Given the description of an element on the screen output the (x, y) to click on. 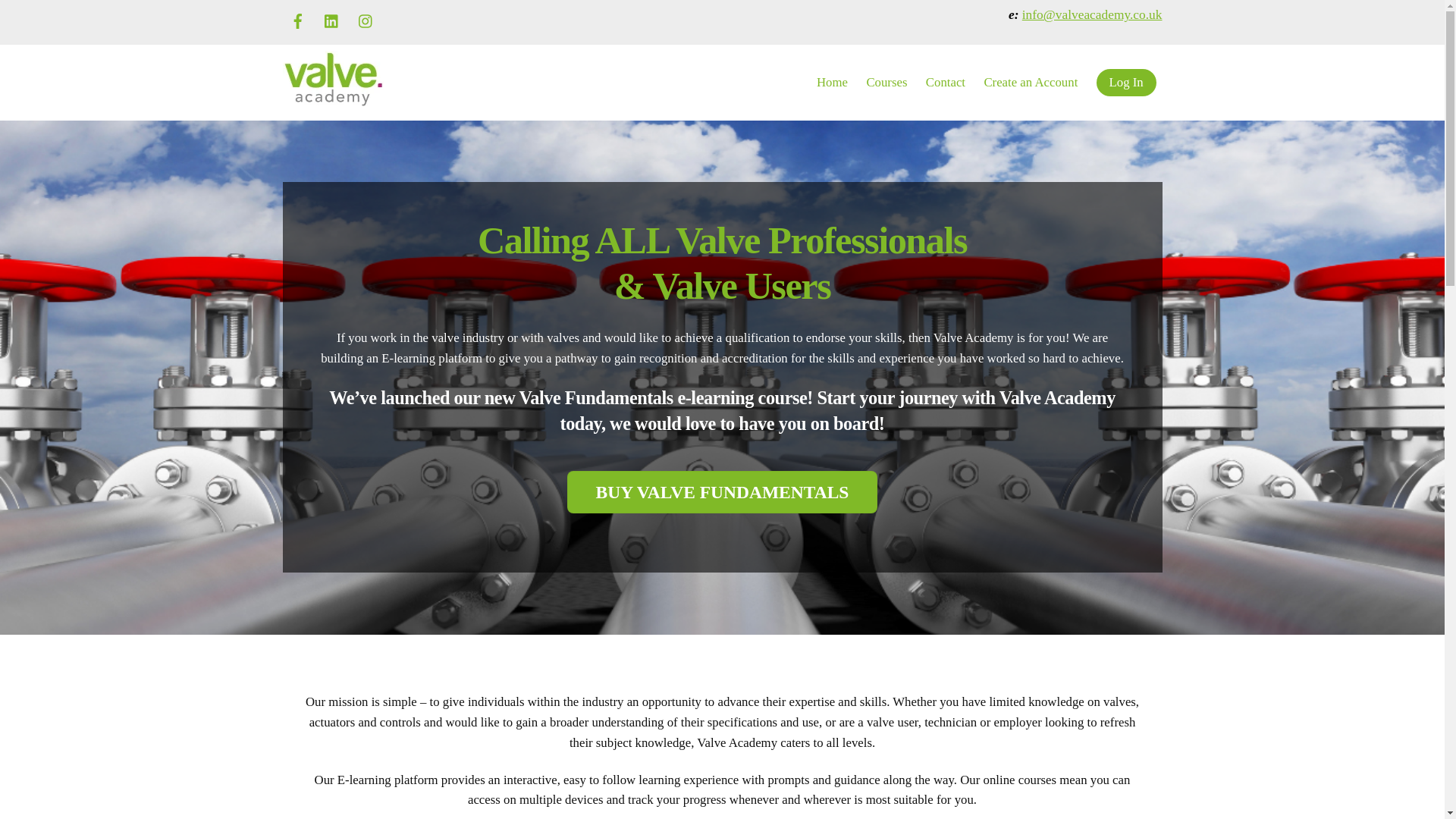
Courses (886, 81)
Create an Account (1029, 81)
Home (832, 81)
Log In (1126, 82)
Valve Academy (332, 100)
BUY VALVE FUNDAMENTALS (721, 491)
Contact (945, 81)
ValveAcademyLogo133x75 (332, 78)
